Given the description of an element on the screen output the (x, y) to click on. 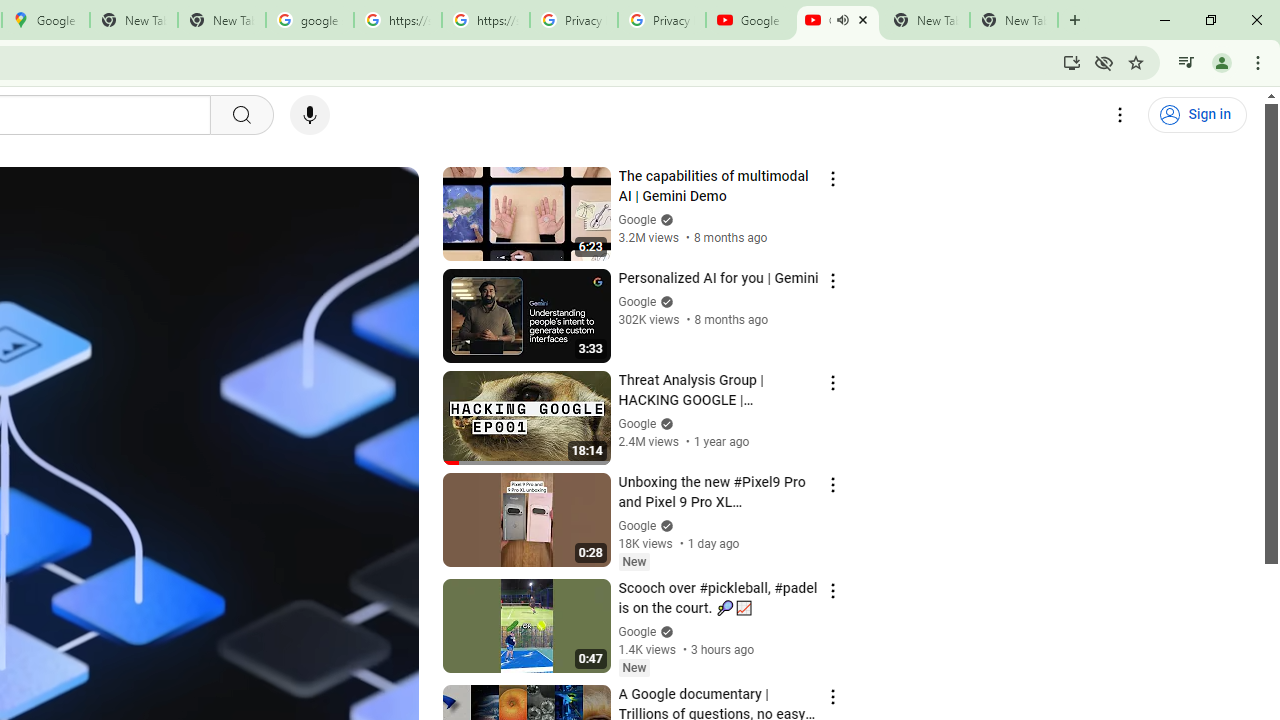
Verified (664, 631)
New Tab (1014, 20)
